Given the description of an element on the screen output the (x, y) to click on. 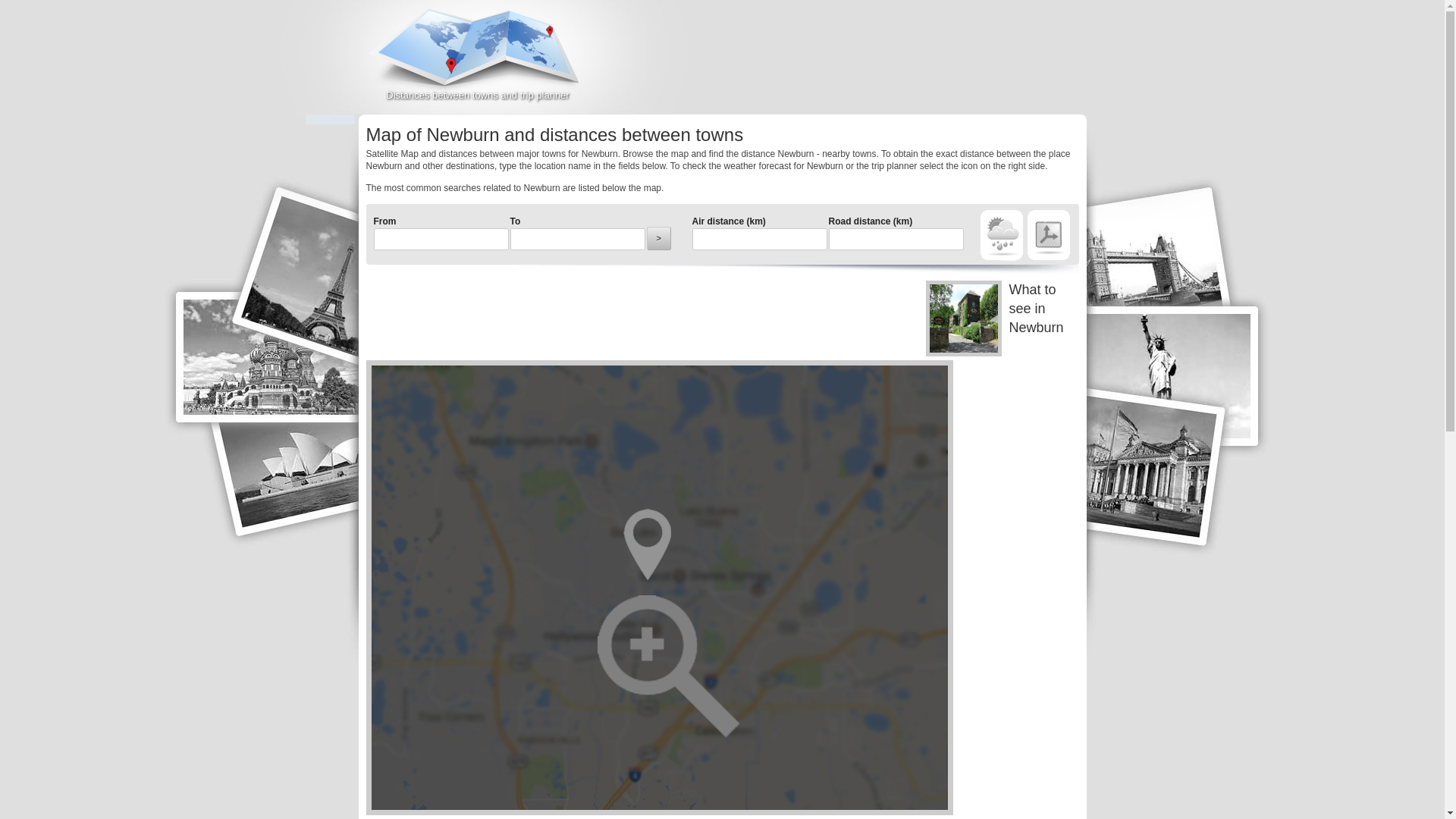
Advertisement (641, 314)
Distances between towns and trip planner (477, 57)
What to see in Newburn (1000, 318)
Advertisement (908, 63)
